Given the description of an element on the screen output the (x, y) to click on. 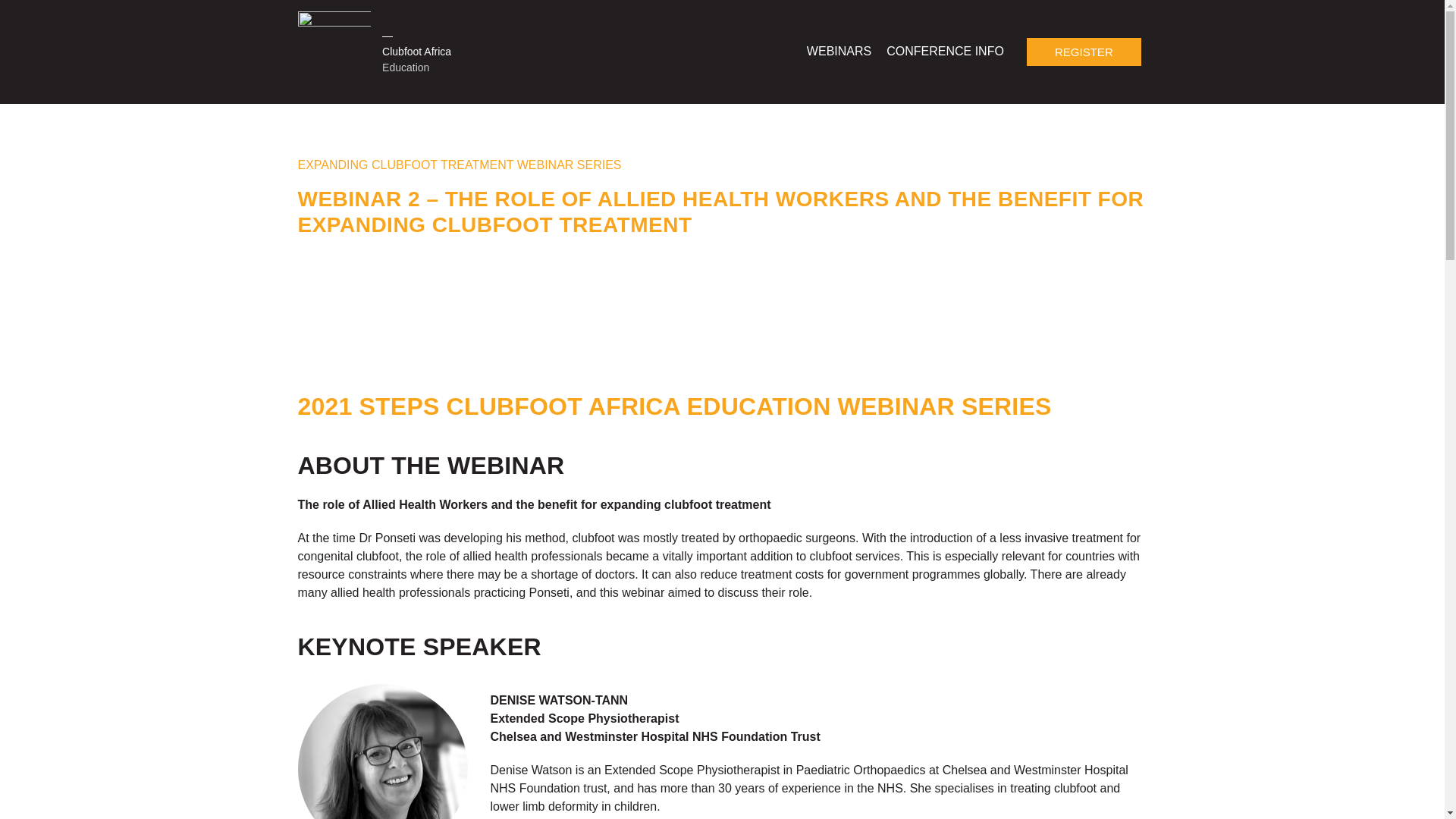
CONFERENCE INFO (945, 51)
REGISTER (1083, 51)
WEBINARS (839, 51)
